Given the description of an element on the screen output the (x, y) to click on. 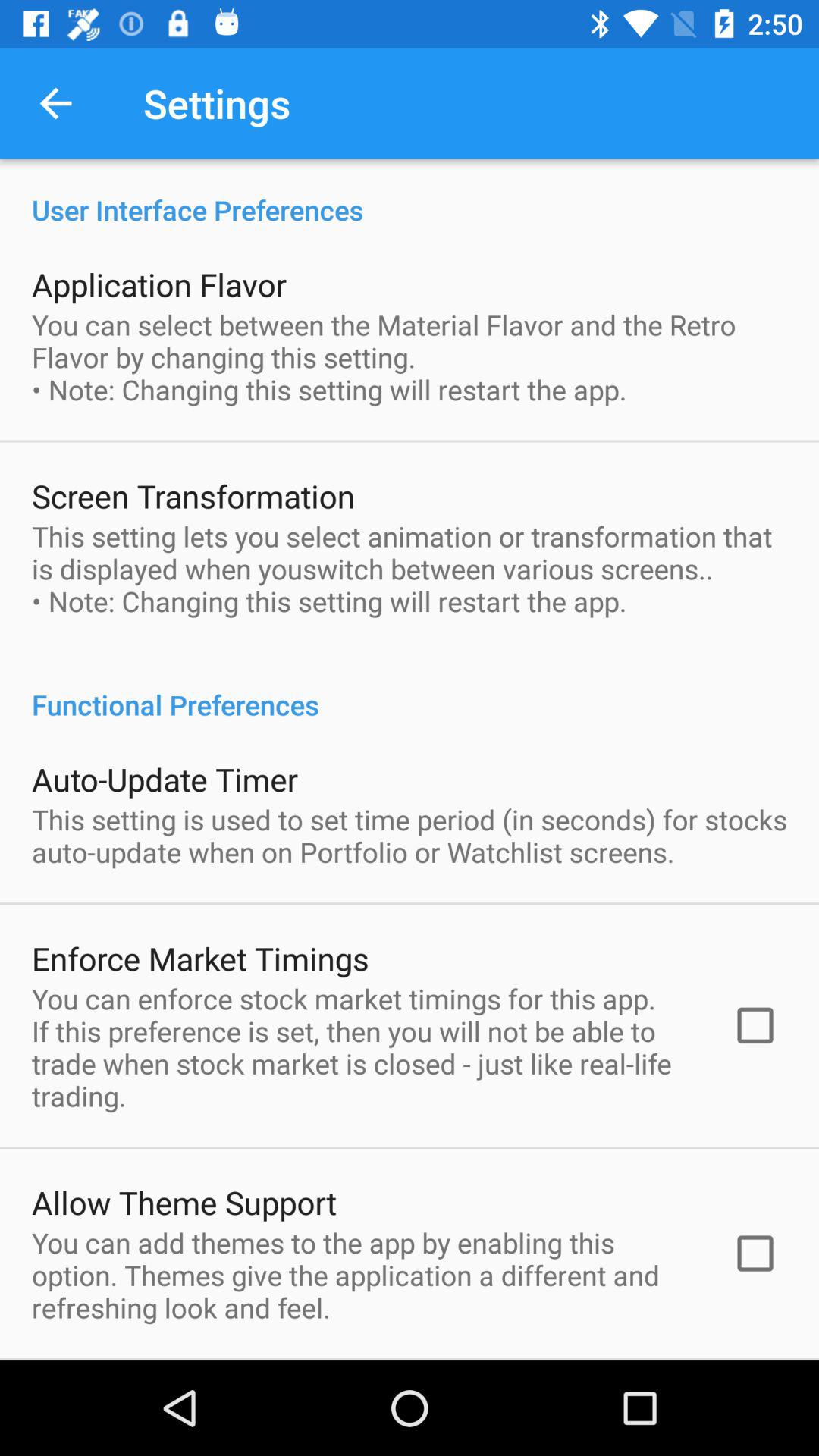
choose the item below the you can enforce (183, 1201)
